Given the description of an element on the screen output the (x, y) to click on. 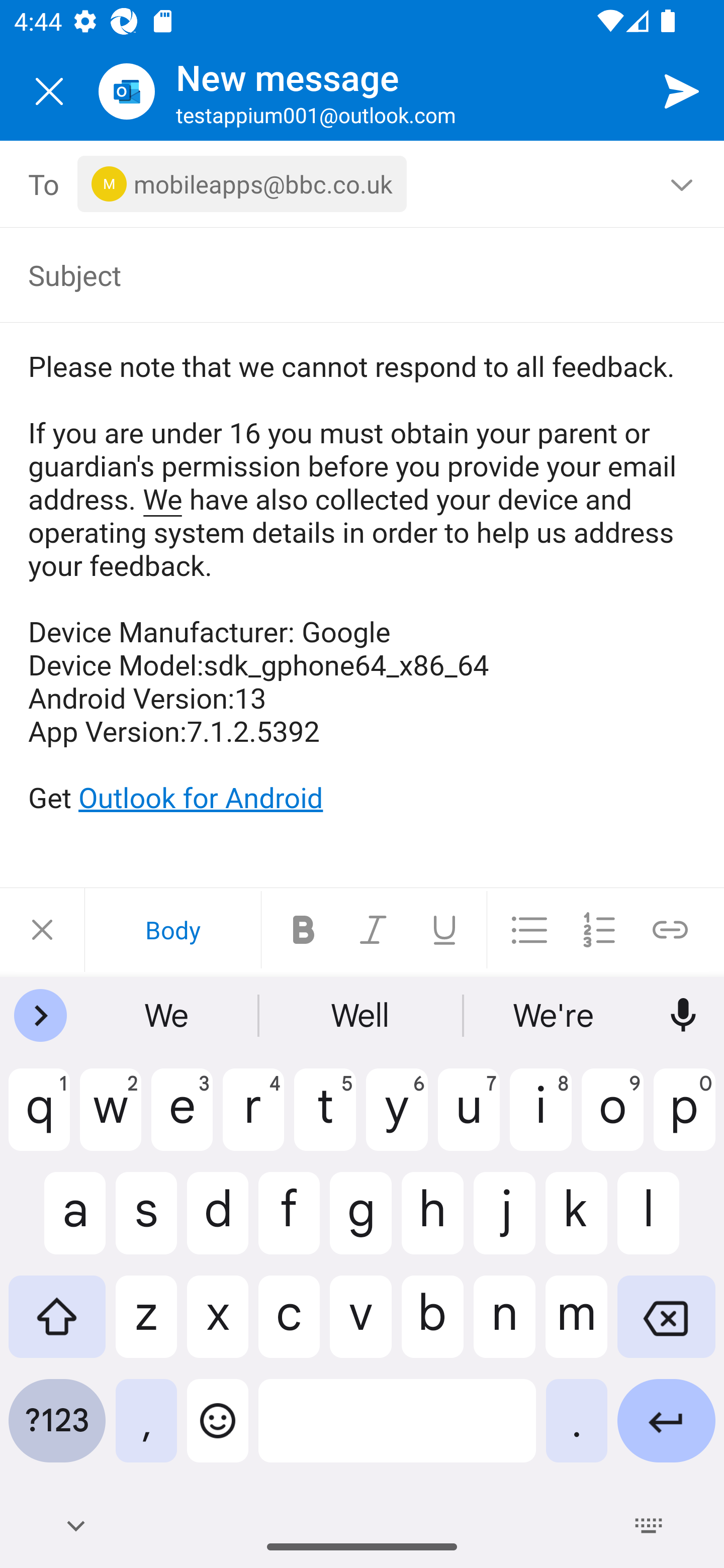
Close (49, 91)
Send (681, 90)
To, 1 recipient <mobileapps@bbc.co.uk> (362, 184)
Subject (347, 274)
Close (42, 929)
Font style button body Body (172, 929)
Bold (303, 929)
Italics (374, 929)
Underline (444, 929)
Bulleted list (529, 929)
Numbered list (599, 929)
Add link (670, 929)
